Given the description of an element on the screen output the (x, y) to click on. 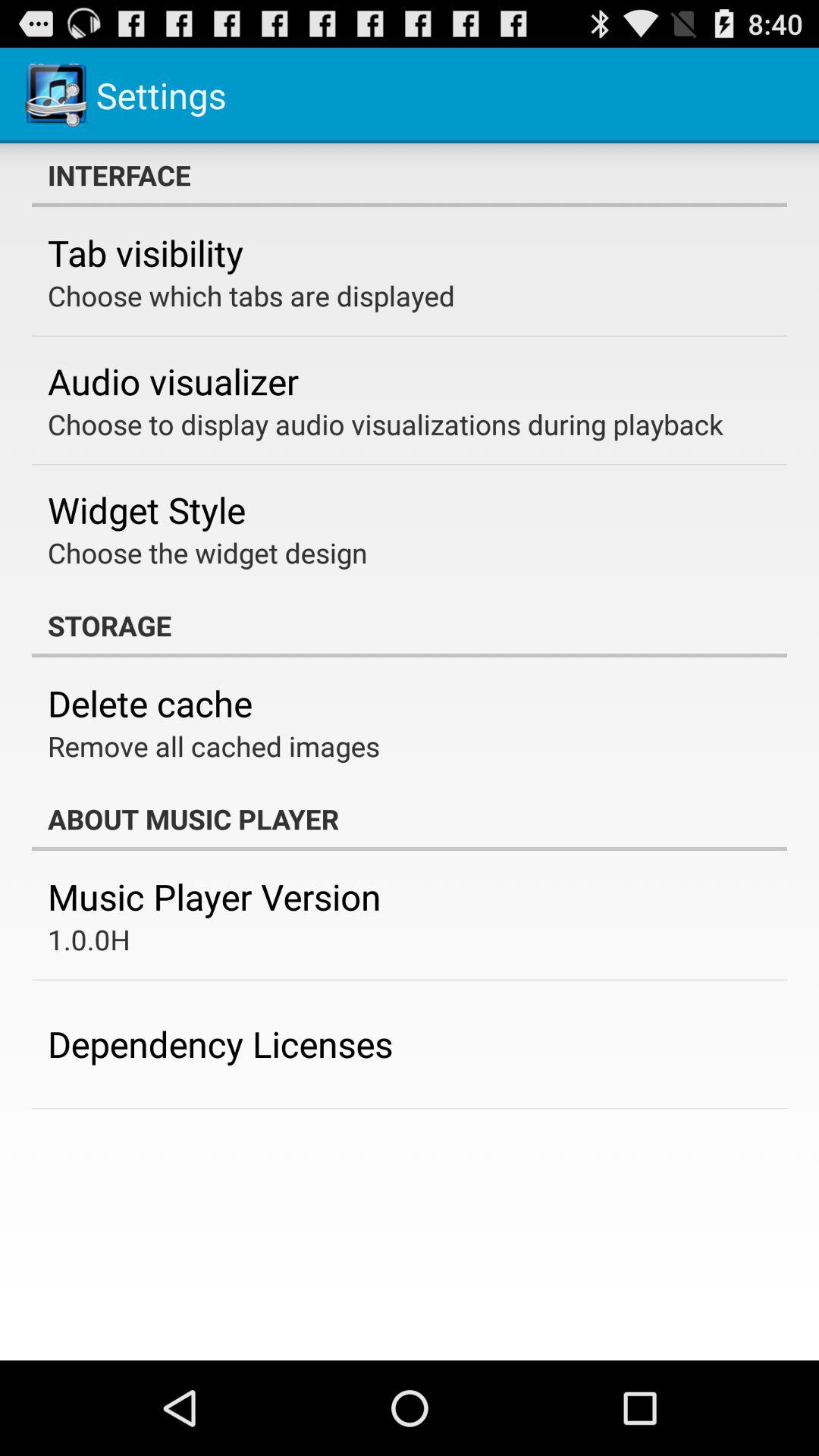
swipe until the choose to display (385, 424)
